Given the description of an element on the screen output the (x, y) to click on. 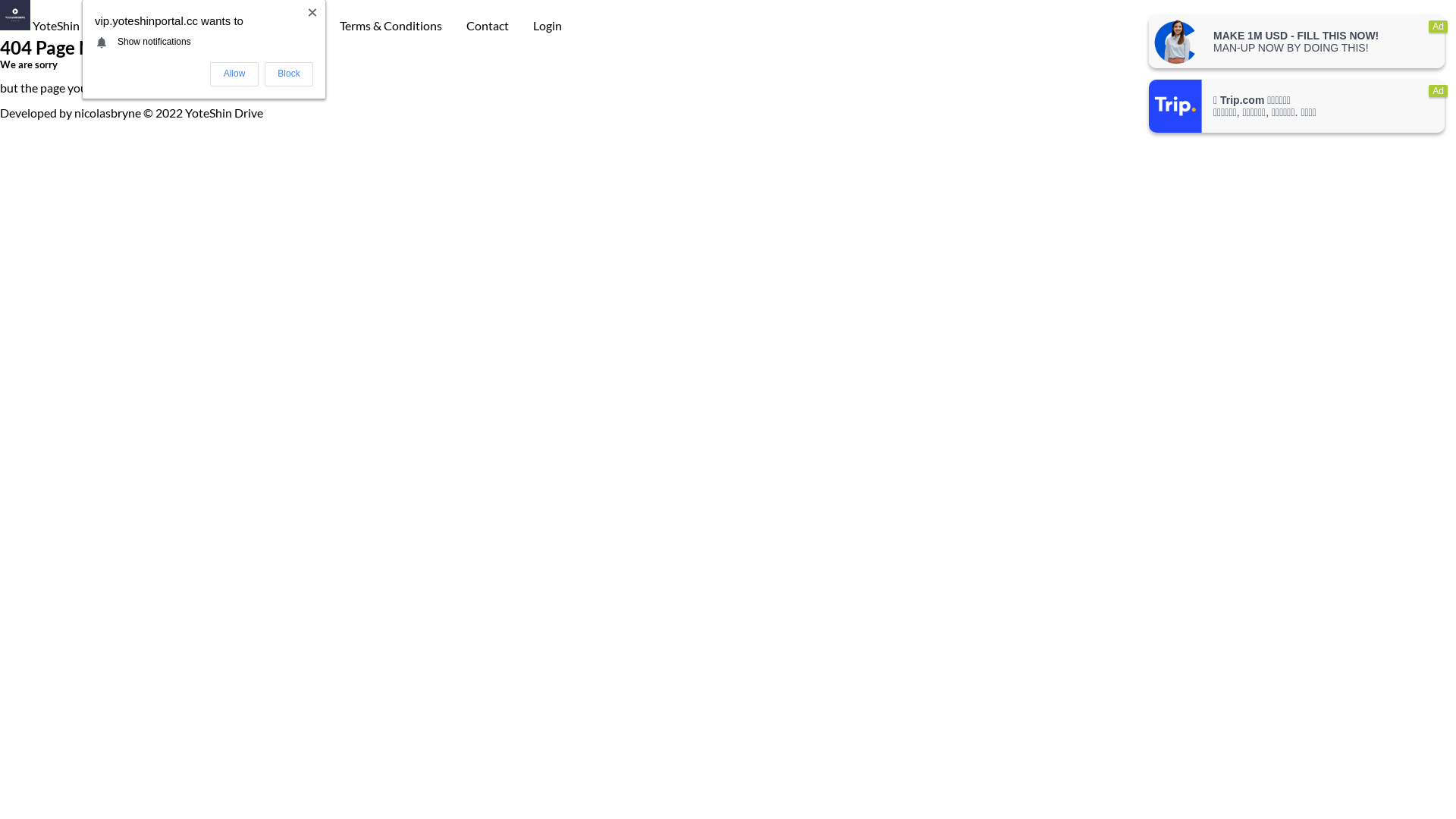
Privacy Policy Element type: text (217, 25)
DMCA Element type: text (296, 25)
Login Element type: text (547, 25)
Contact Element type: text (487, 25)
Home Element type: text (140, 25)
Terms & Conditions Element type: text (390, 25)
YoteShin Drive Element type: text (56, 25)
